Given the description of an element on the screen output the (x, y) to click on. 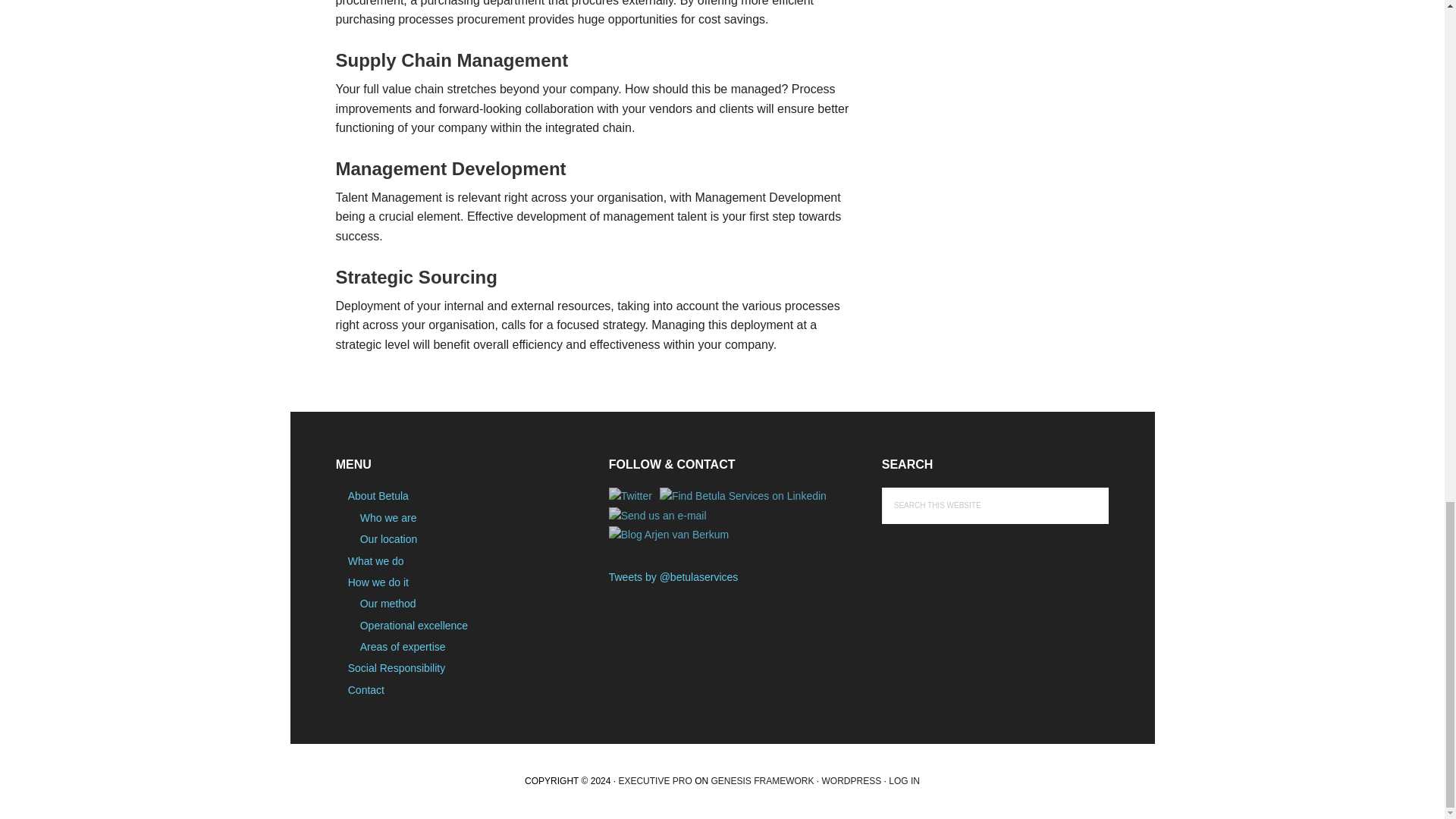
WORDPRESS (852, 780)
Social Responsibility (396, 667)
About Betula (378, 495)
EXECUTIVE PRO (654, 780)
 Blog Arjen van Berkum (668, 534)
What we do (375, 561)
GENESIS FRAMEWORK (761, 780)
 Twitter (630, 495)
